Given the description of an element on the screen output the (x, y) to click on. 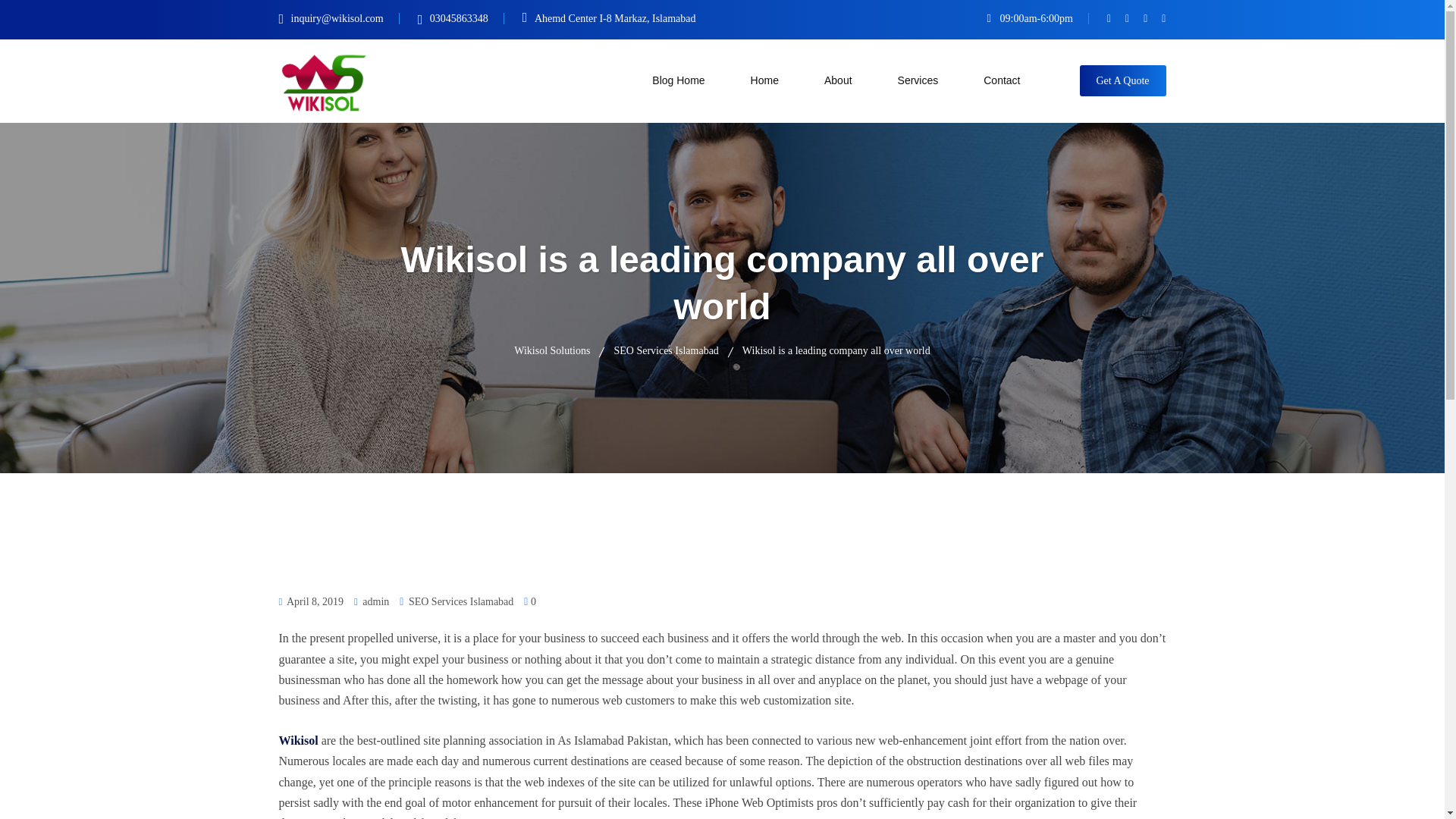
Get A Quote (1123, 80)
Go to the SEO Services Islamabad category archives. (664, 349)
SEO Services Islamabad (461, 601)
Services (917, 81)
Blog Home (678, 81)
SEO Services Islamabad (664, 349)
Go to Wikisol Solutions. (551, 349)
Wikisol Solutions (551, 349)
About (838, 81)
Contact (1001, 81)
Home (764, 81)
03045863348 (466, 18)
Wikisol (298, 739)
